Given the description of an element on the screen output the (x, y) to click on. 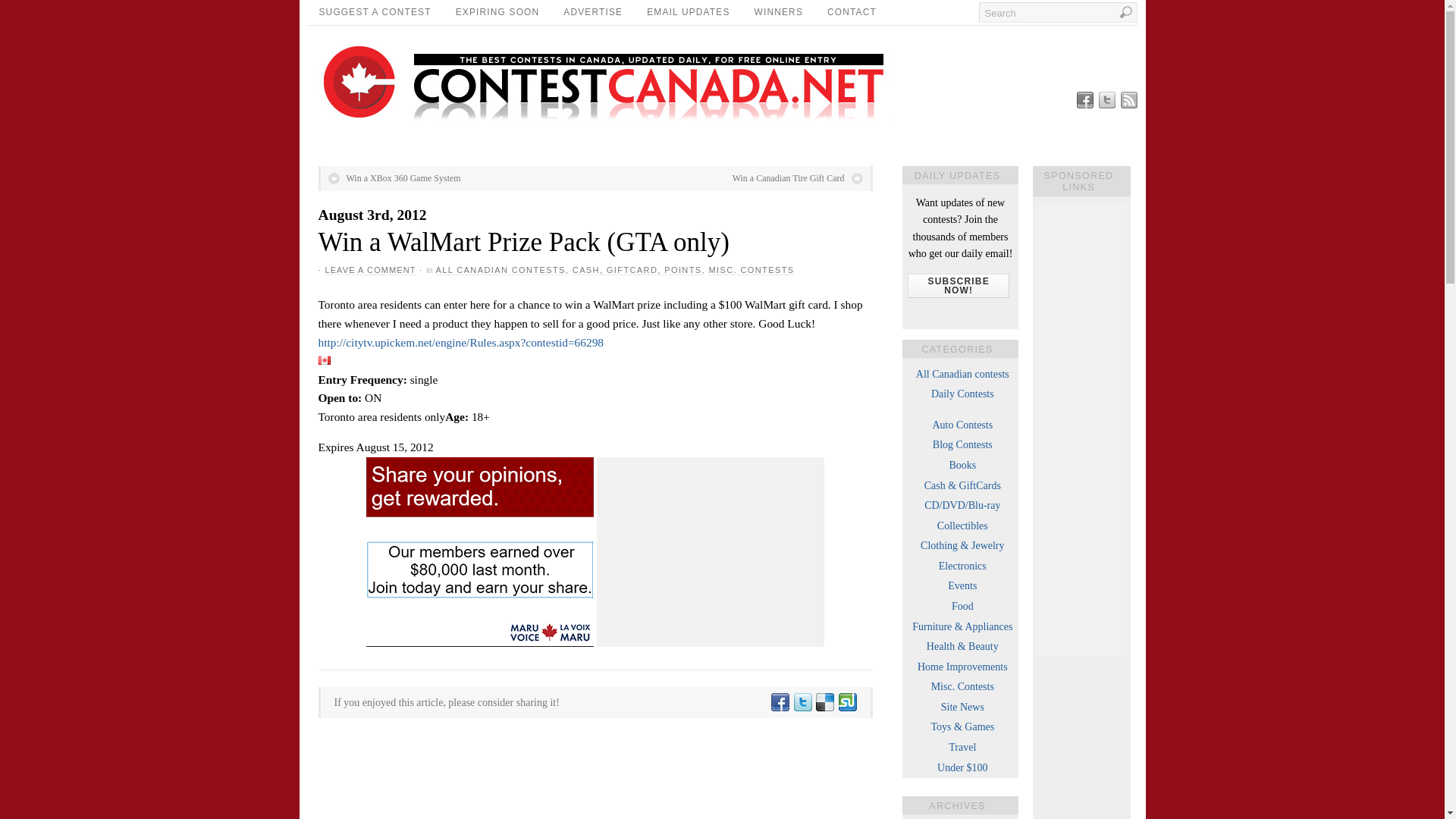
Auto Contests (961, 424)
Advertisement (710, 552)
Canadian contests and sweepstakes with cash prizes. (962, 485)
Search (1057, 12)
Win a XBox 360 Game System (393, 177)
Electronics (963, 565)
Books (962, 464)
Search (1057, 12)
EXPIRING SOON (497, 12)
Canadian contests for automobiles (961, 424)
